Given the description of an element on the screen output the (x, y) to click on. 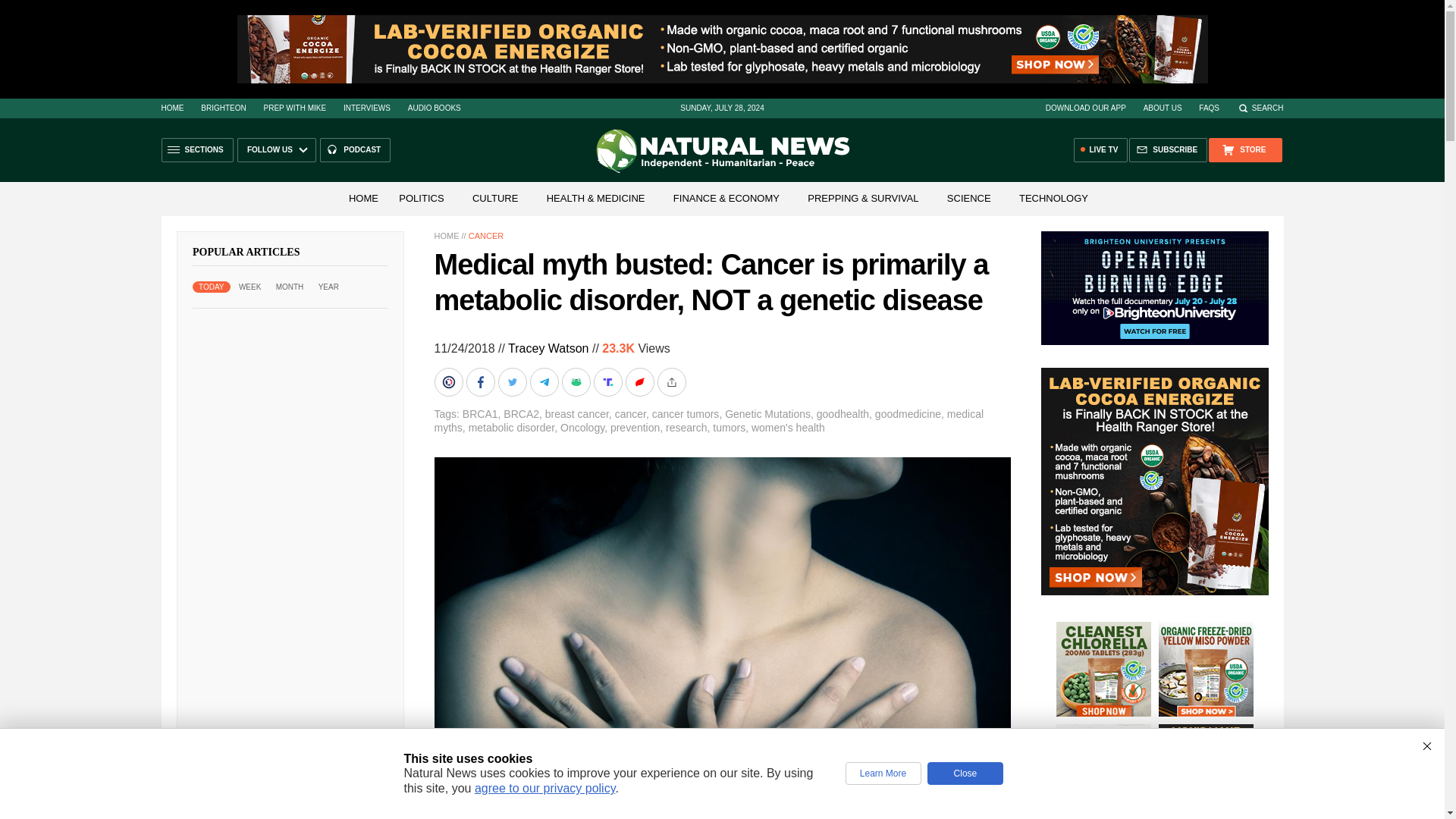
LIVE TV (1101, 150)
PREP WITH MIKE (294, 108)
INTERVIEWS (366, 108)
CULTURE (495, 197)
HOME (363, 197)
Share on Truth.Social (608, 381)
DOWNLOAD OUR APP (1085, 108)
STORE (1244, 150)
BRIGHTEON (223, 108)
POLITICS (421, 197)
TECHNOLOGY (1053, 197)
HOME (171, 108)
FAQS (1209, 108)
Share on Gettr (640, 381)
ABOUT US (1162, 108)
